Given the description of an element on the screen output the (x, y) to click on. 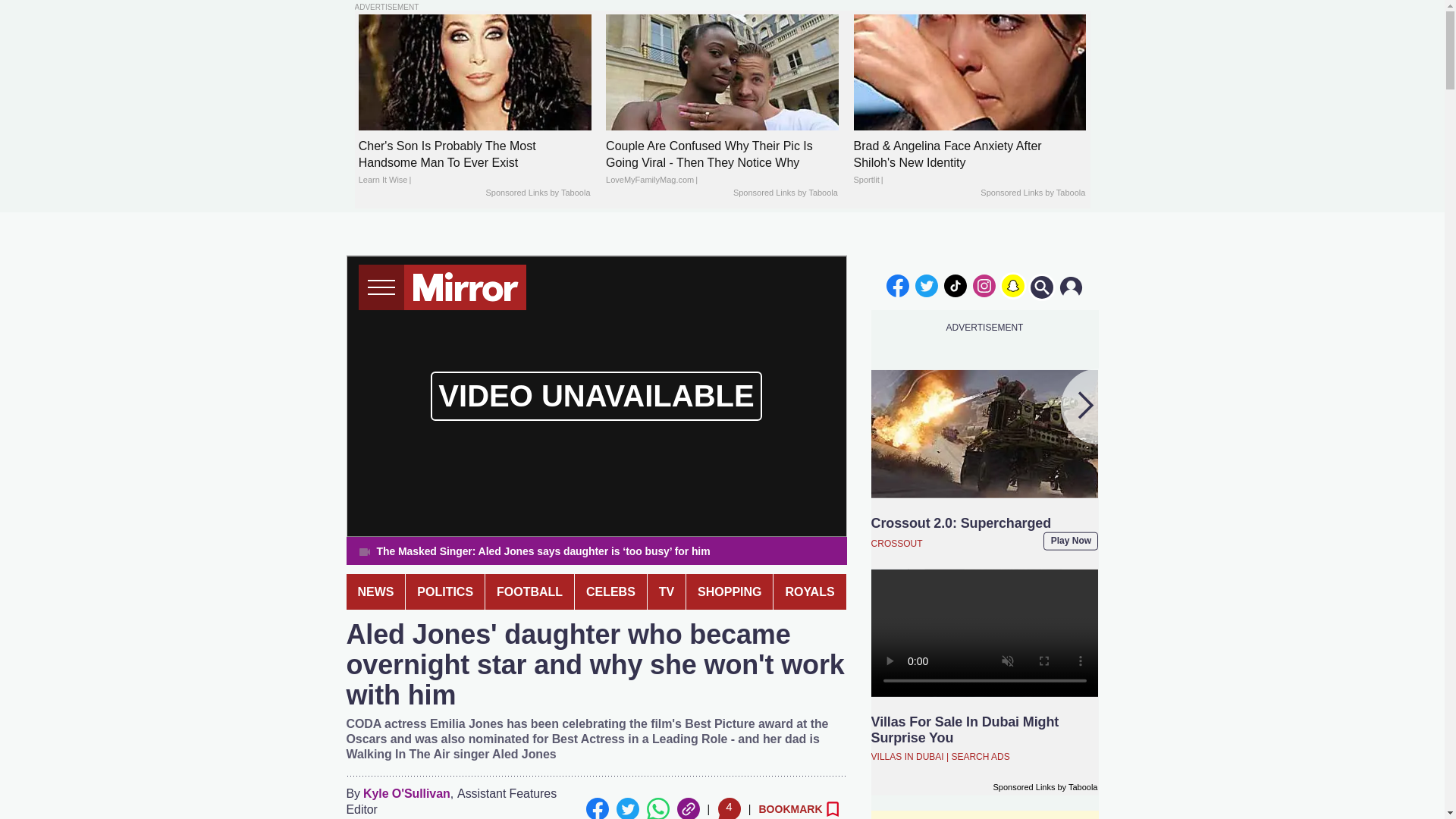
facebook (897, 285)
Sponsored Links by Taboola (785, 193)
Cher's Son Is Probably The Most Handsome Man To Ever Exist (474, 72)
Cher's Son Is Probably The Most Handsome Man To Ever Exist (474, 163)
Sponsored Links by Taboola (1031, 193)
Sponsored Links by Taboola (536, 193)
